Given the description of an element on the screen output the (x, y) to click on. 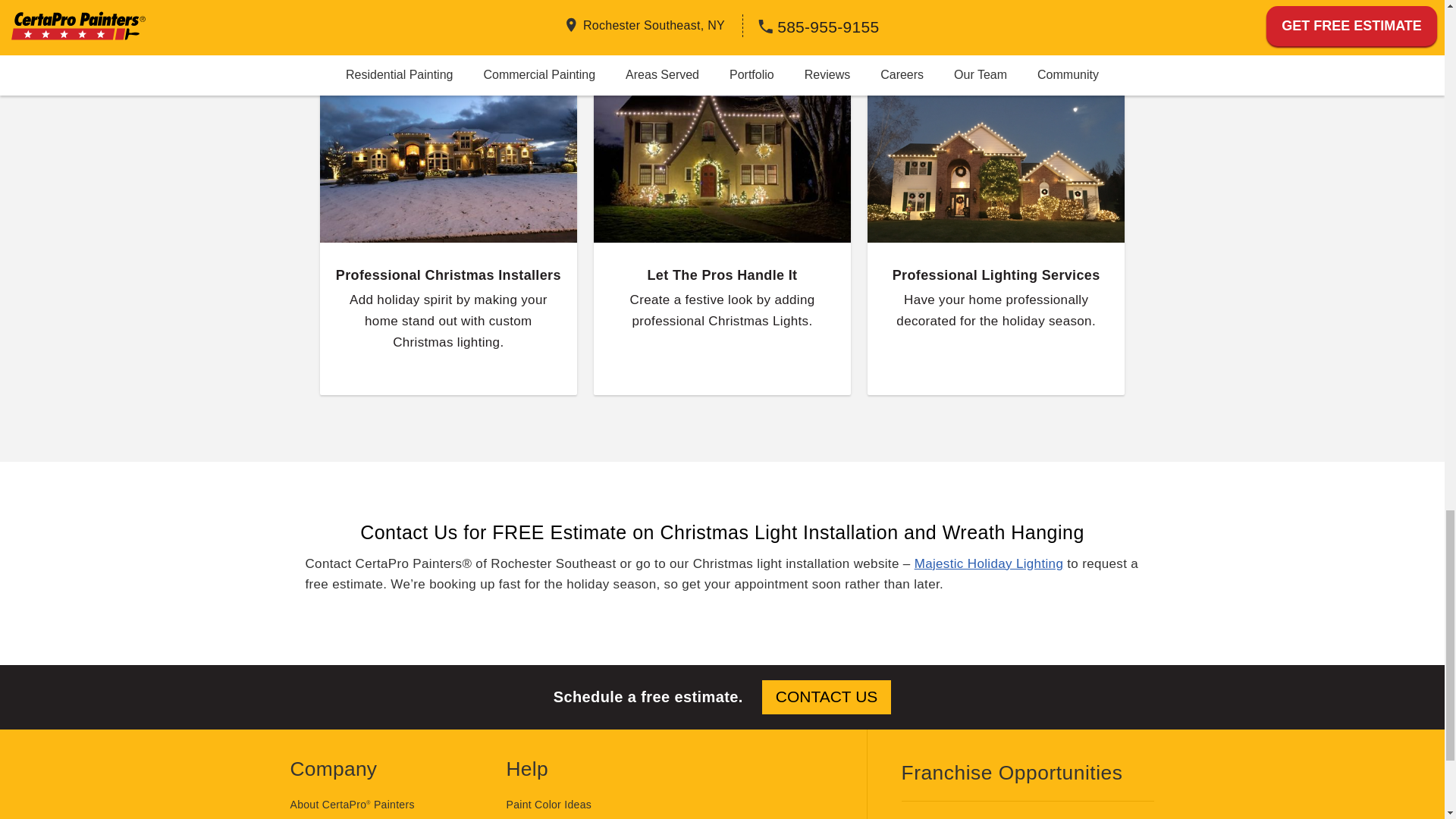
CONTACT US (826, 697)
